Given the description of an element on the screen output the (x, y) to click on. 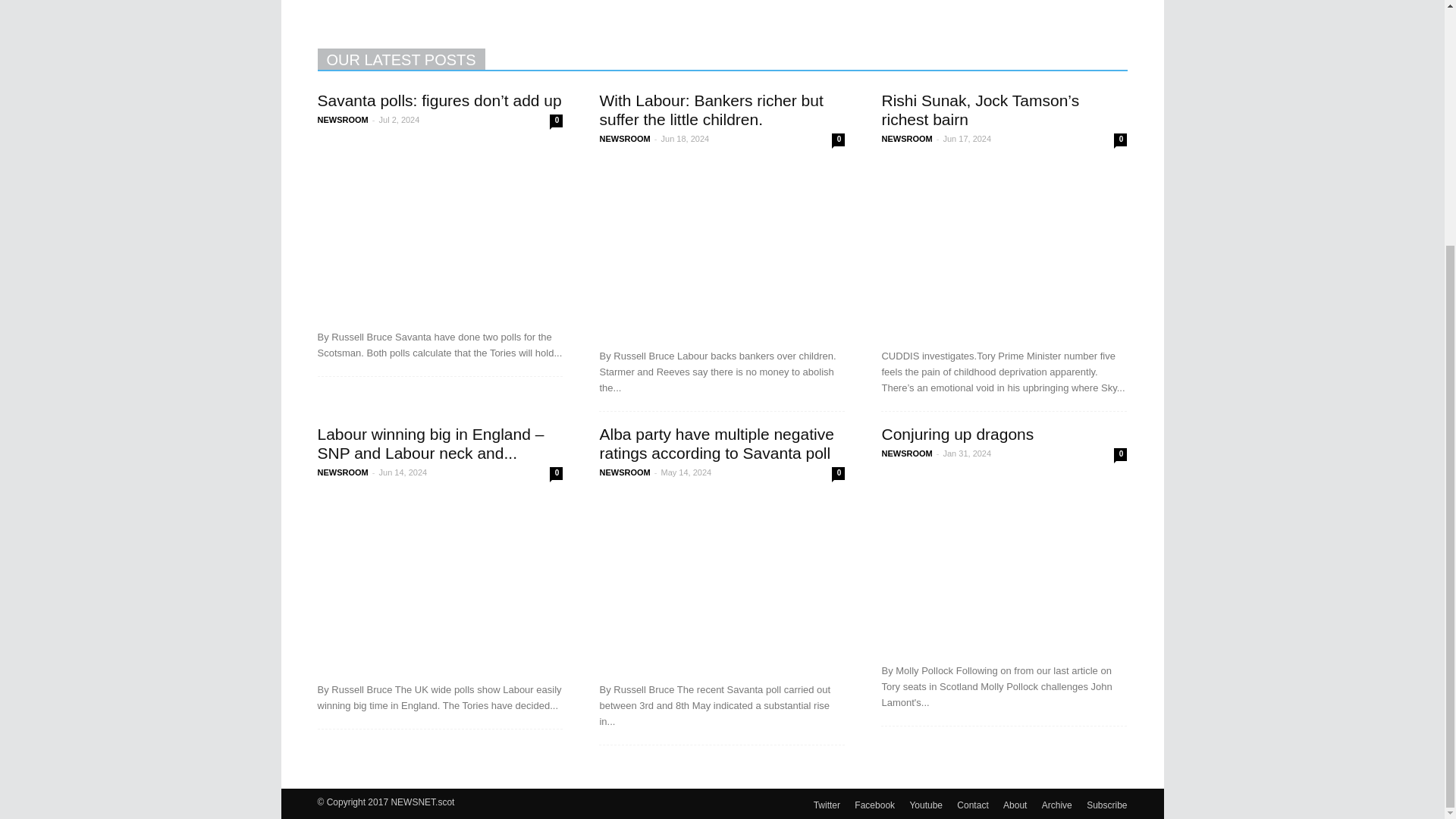
0 (1119, 139)
NEWSROOM (623, 138)
0 (556, 120)
With Labour:  Bankers richer but suffer the little children. (710, 109)
NEWSROOM (342, 119)
NEWSROOM (905, 138)
With Labour:  Bankers richer but suffer the little children. (721, 247)
With Labour: Bankers richer but suffer the little children. (710, 109)
0 (837, 139)
